Given the description of an element on the screen output the (x, y) to click on. 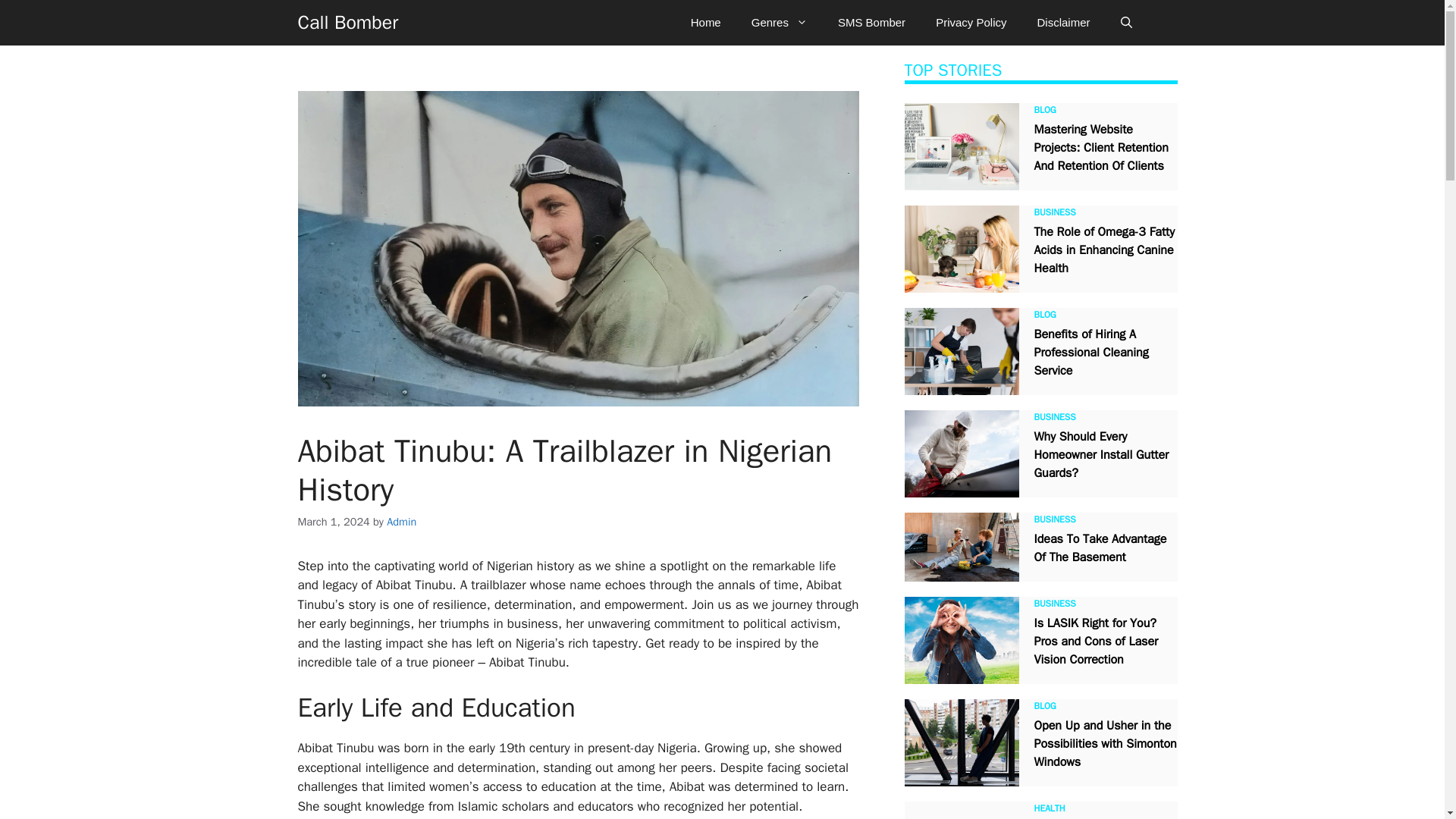
Home (705, 22)
BUSINESS (1054, 212)
Admin (401, 521)
Privacy Policy (971, 22)
SMS Bomber (871, 22)
Genres (779, 22)
BLOG (1045, 314)
BLOG (1045, 110)
BUSINESS (1054, 417)
Benefits of Hiring A Professional Cleaning Service (1090, 352)
Disclaimer (1063, 22)
Call Bomber (347, 22)
The Role of Omega-3 Fatty Acids in Enhancing Canine Health (1103, 250)
View all posts by Admin (401, 521)
